Given the description of an element on the screen output the (x, y) to click on. 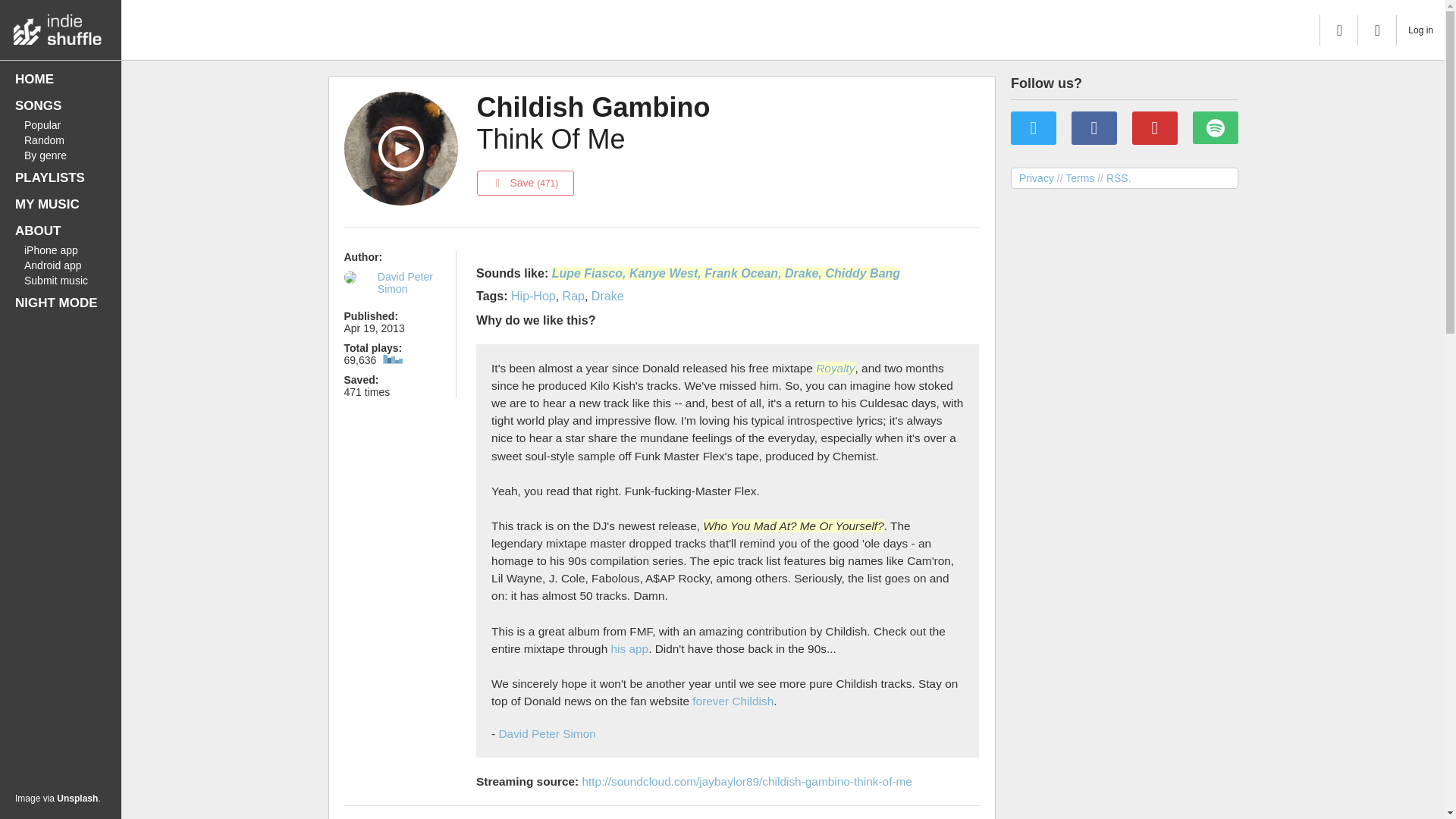
SONGS (60, 106)
Submit Music (61, 280)
Download Android App (61, 264)
Hip-hop Songs (533, 295)
Playlists (60, 178)
Android app (61, 264)
Homepage (60, 78)
Download iPhone App (61, 249)
Rap (573, 295)
Spotify (1214, 127)
Lupe Fiasco (587, 273)
Drake (607, 295)
Unsplash (76, 798)
HOME (60, 78)
Indie Shuffle Logo (60, 26)
